Given the description of an element on the screen output the (x, y) to click on. 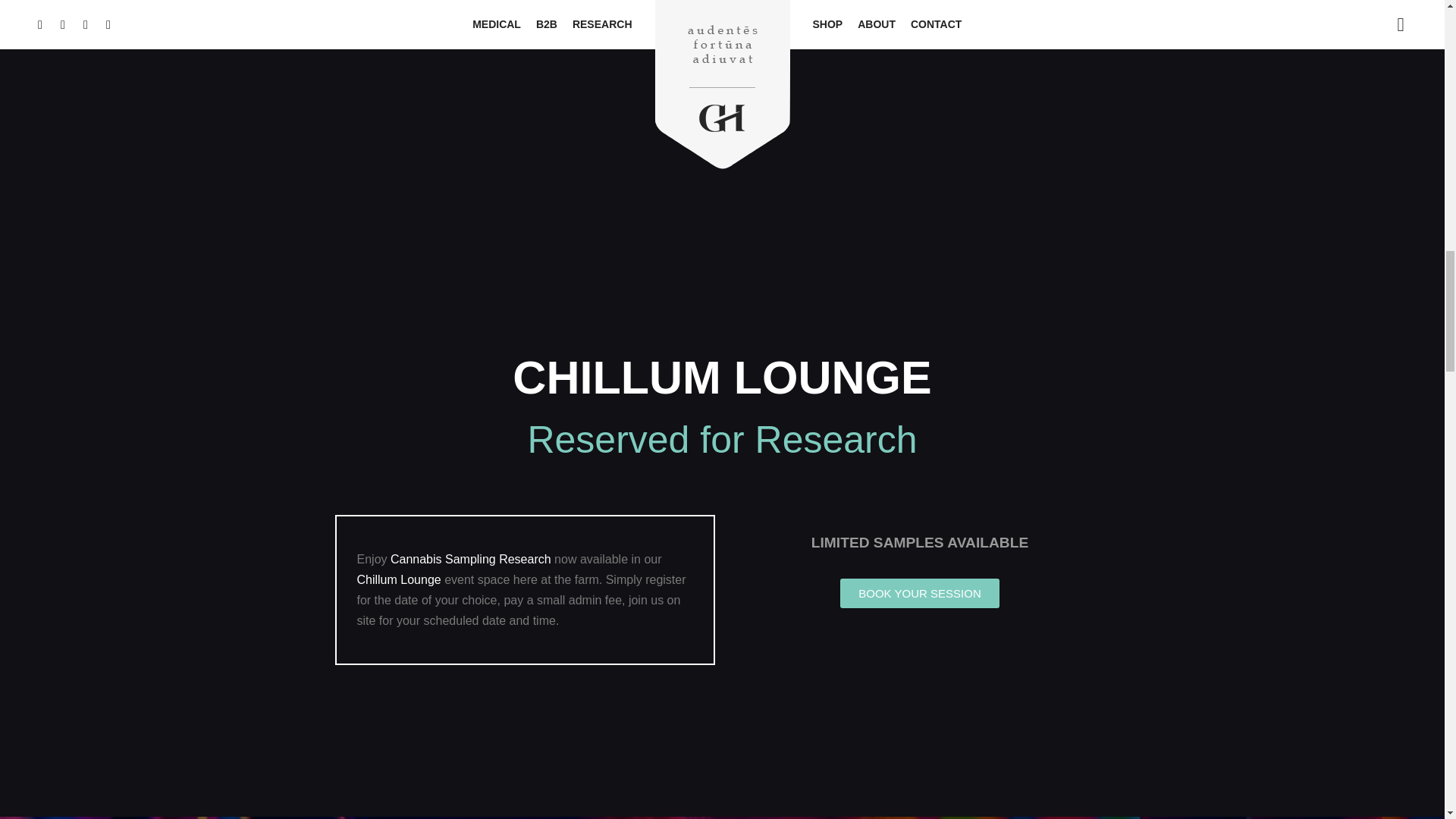
BOOK YOUR SESSION (919, 593)
